Given the description of an element on the screen output the (x, y) to click on. 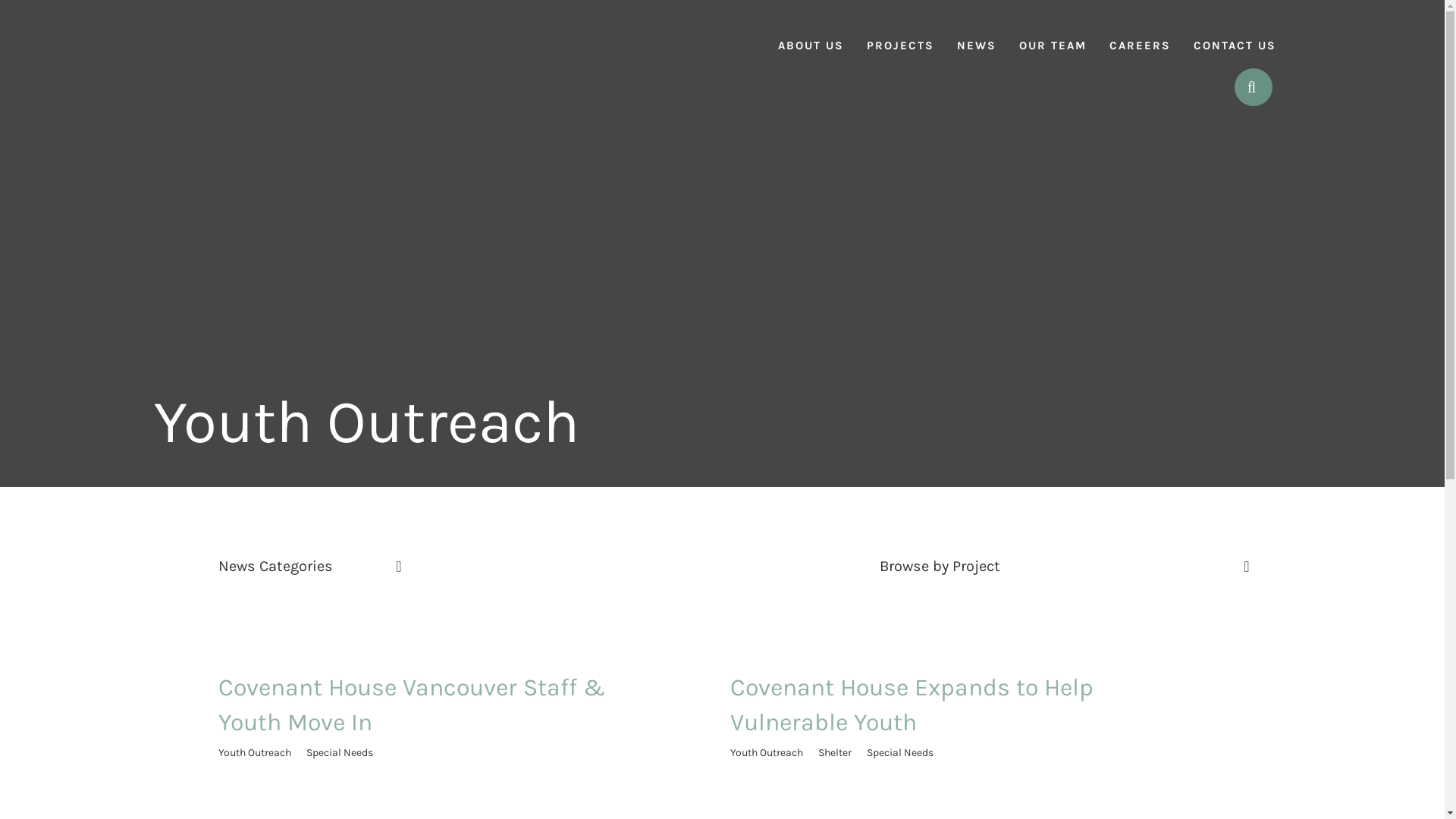
ABOUT US Element type: text (809, 34)
Youth Outreach Element type: text (765, 752)
OUR TEAM Element type: text (1052, 34)
Covenant House Vancouver Staff & Youth Move In Element type: text (411, 704)
Shelter Element type: text (833, 752)
Special Needs Element type: text (899, 752)
Youth Outreach Element type: text (254, 752)
CONTACT US Element type: text (1233, 34)
Covenant House Expands to Help Vulnerable Youth Element type: text (910, 704)
PROJECTS Element type: text (900, 34)
CAREERS Element type: text (1140, 34)
NEWS Element type: text (975, 34)
Special Needs Element type: text (339, 752)
